Given the description of an element on the screen output the (x, y) to click on. 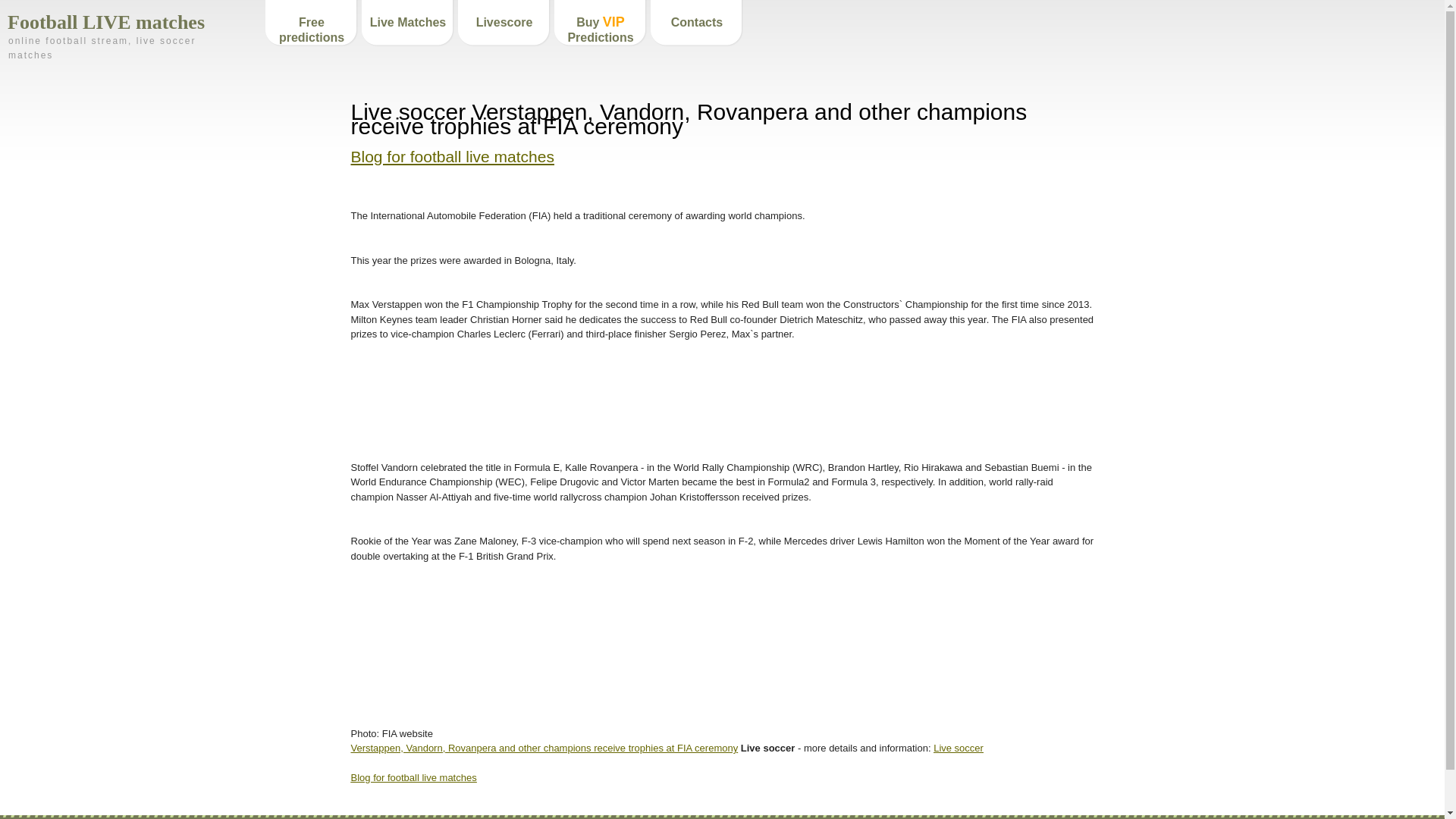
Blog for football live matches Element type: text (413, 777)
Live soccer Element type: text (958, 747)
Contacts Element type: text (696, 23)
Buy VIP Predictions Element type: text (600, 23)
Live Matches Element type: text (407, 23)
Livescore Element type: text (504, 23)
Blog for football live matches Element type: text (451, 155)
Free predictions Element type: text (311, 23)
